Given the description of an element on the screen output the (x, y) to click on. 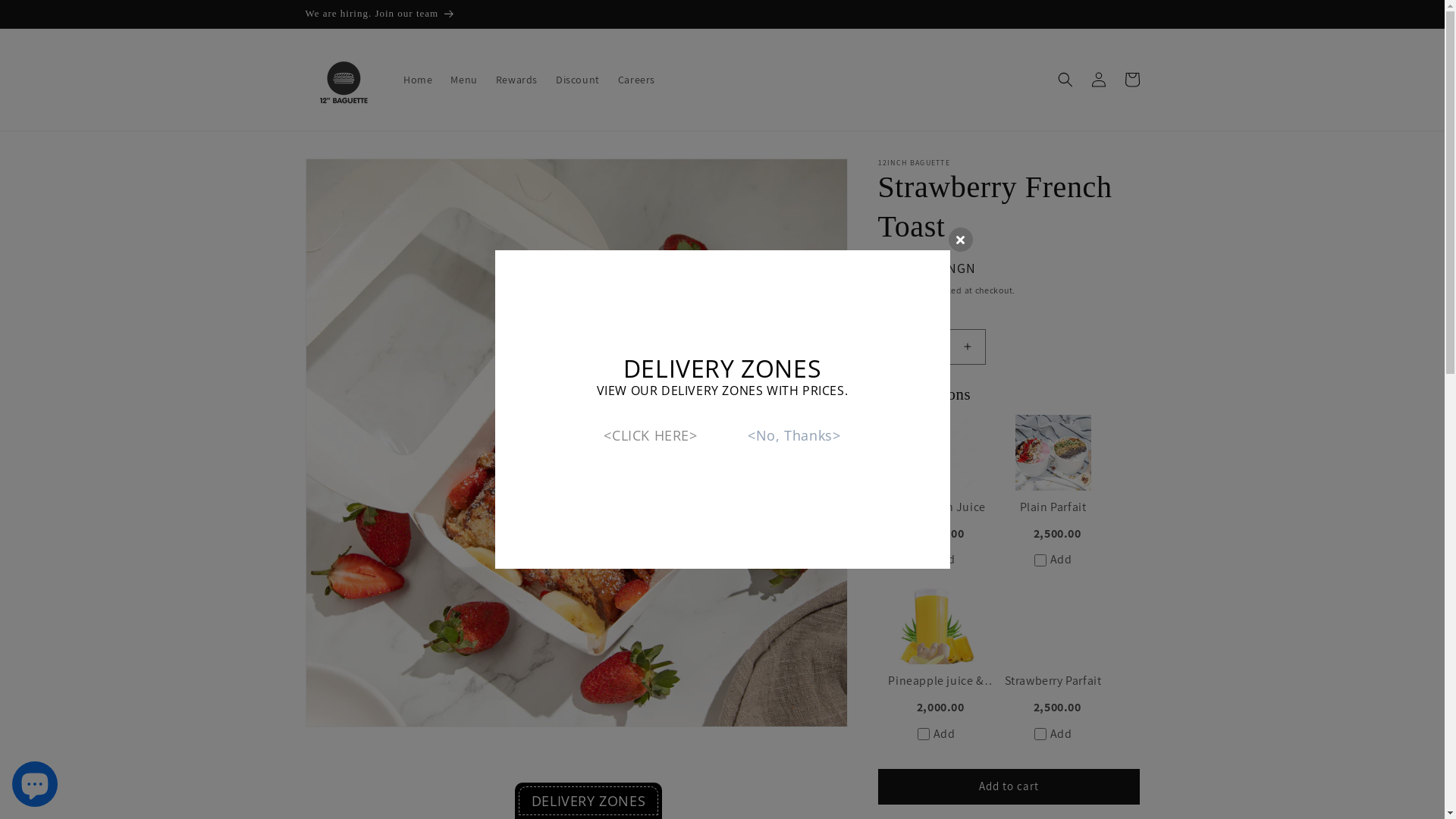
Shipping Element type: text (897, 289)
Menu Element type: text (463, 79)
Skip to product information Element type: text (350, 175)
Home Element type: text (417, 79)
Increase quantity for Strawberry French Toast Element type: text (967, 346)
Log in Element type: text (1097, 79)
Shopify online store chat Element type: hover (34, 780)
We are hiring. Join our team Element type: text (722, 14)
Cart Element type: text (1131, 79)
<CLICK HERE> Element type: text (649, 435)
Discount Element type: text (577, 79)
Careers Element type: text (636, 79)
Add to cart Element type: text (1008, 786)
<No, Thanks> Element type: text (793, 435)
Decrease quantity for Strawberry French Toast Element type: text (895, 346)
Rewards Element type: text (516, 79)
